Given the description of an element on the screen output the (x, y) to click on. 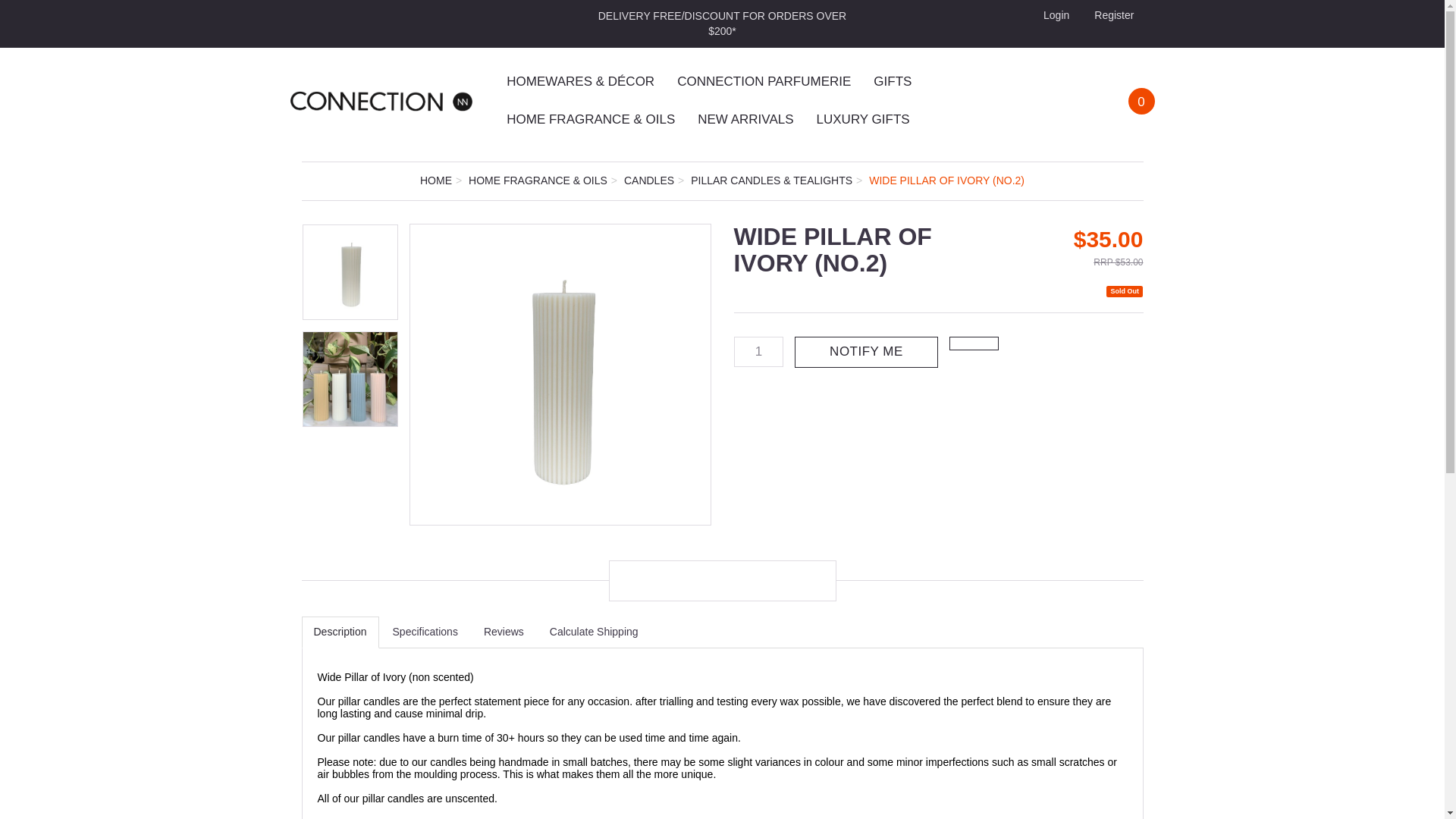
Login (1054, 15)
Large View (560, 374)
Connection (380, 99)
1 (758, 351)
Large View (349, 378)
Register (1112, 15)
Login (1054, 15)
Register (1112, 15)
